Given the description of an element on the screen output the (x, y) to click on. 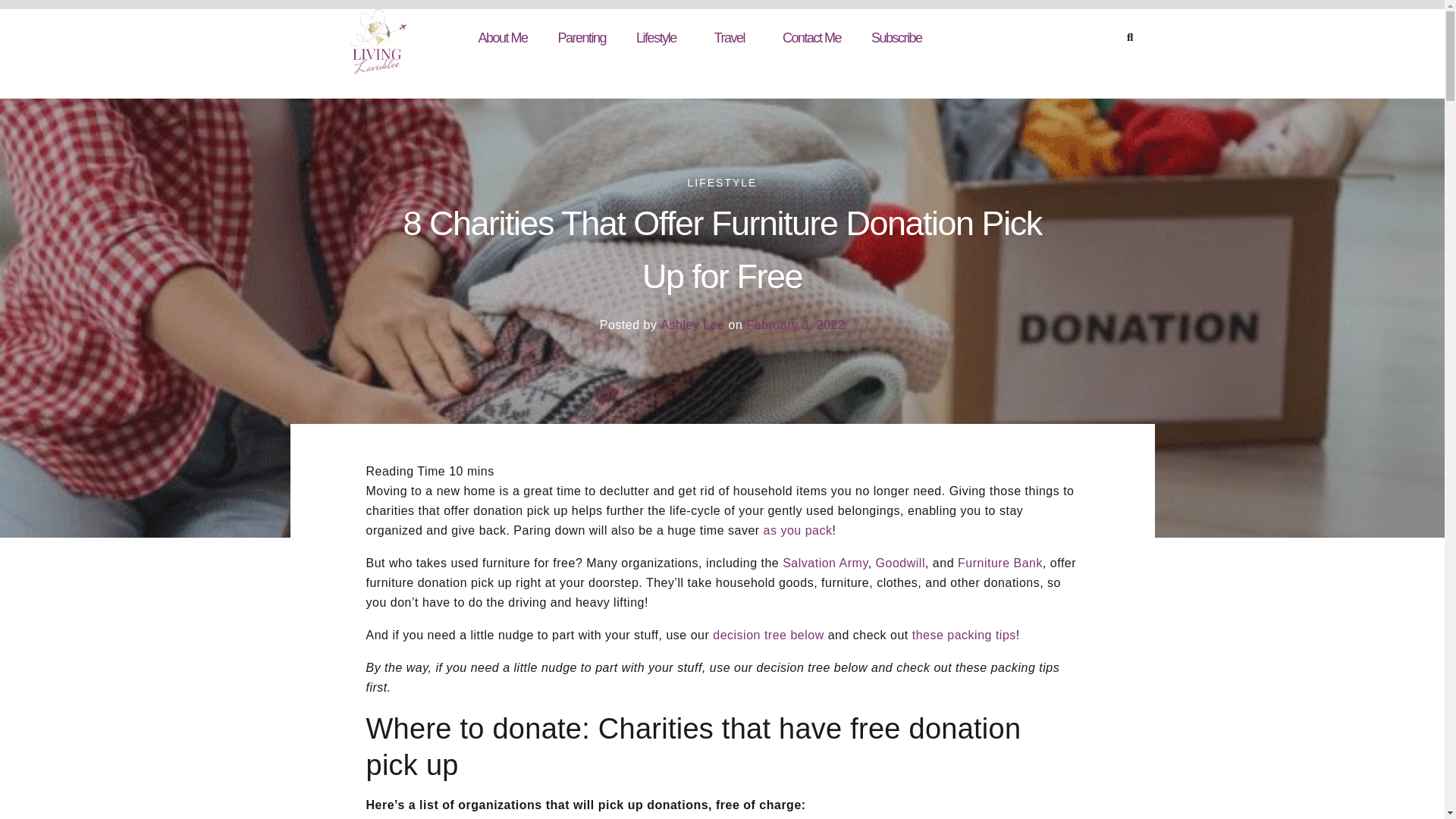
Furniture Bank (1000, 562)
Parenting (582, 37)
these packing tips (964, 634)
About Me (502, 37)
Subscribe (896, 37)
Ashley Lee (689, 331)
Travel (732, 37)
February 3, 2022 (794, 324)
Ashley Lee (692, 324)
LIFESTYLE (721, 182)
Living Lavishlee (376, 41)
February 3, 2022 (793, 331)
Contact Me (811, 37)
Posted by (628, 331)
LIFESTYLE (722, 182)
